Given the description of an element on the screen output the (x, y) to click on. 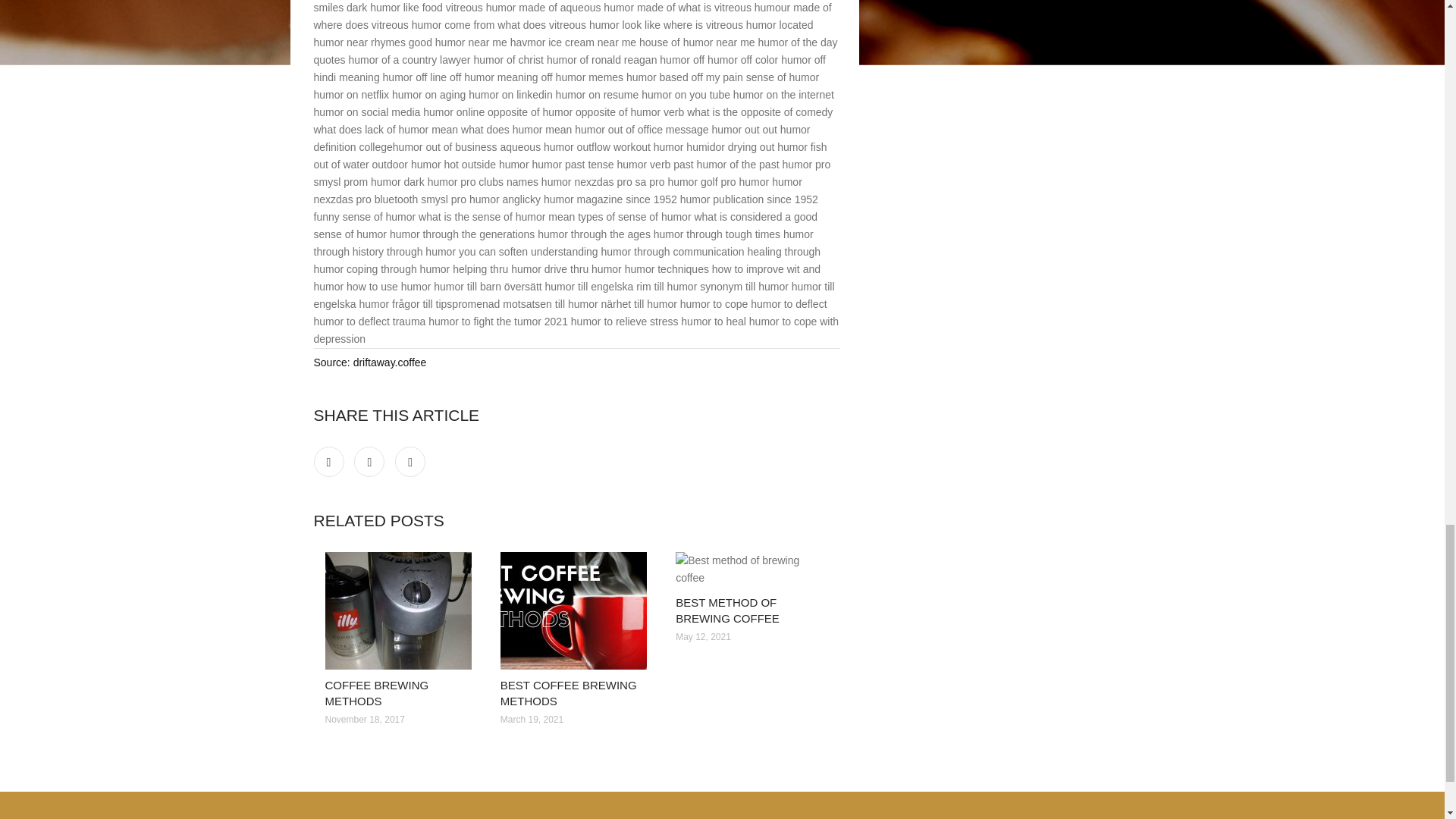
Best coffee brewing methods (576, 610)
Best method of brewing coffee (751, 569)
Coffee brewing methods (400, 610)
